Given the description of an element on the screen output the (x, y) to click on. 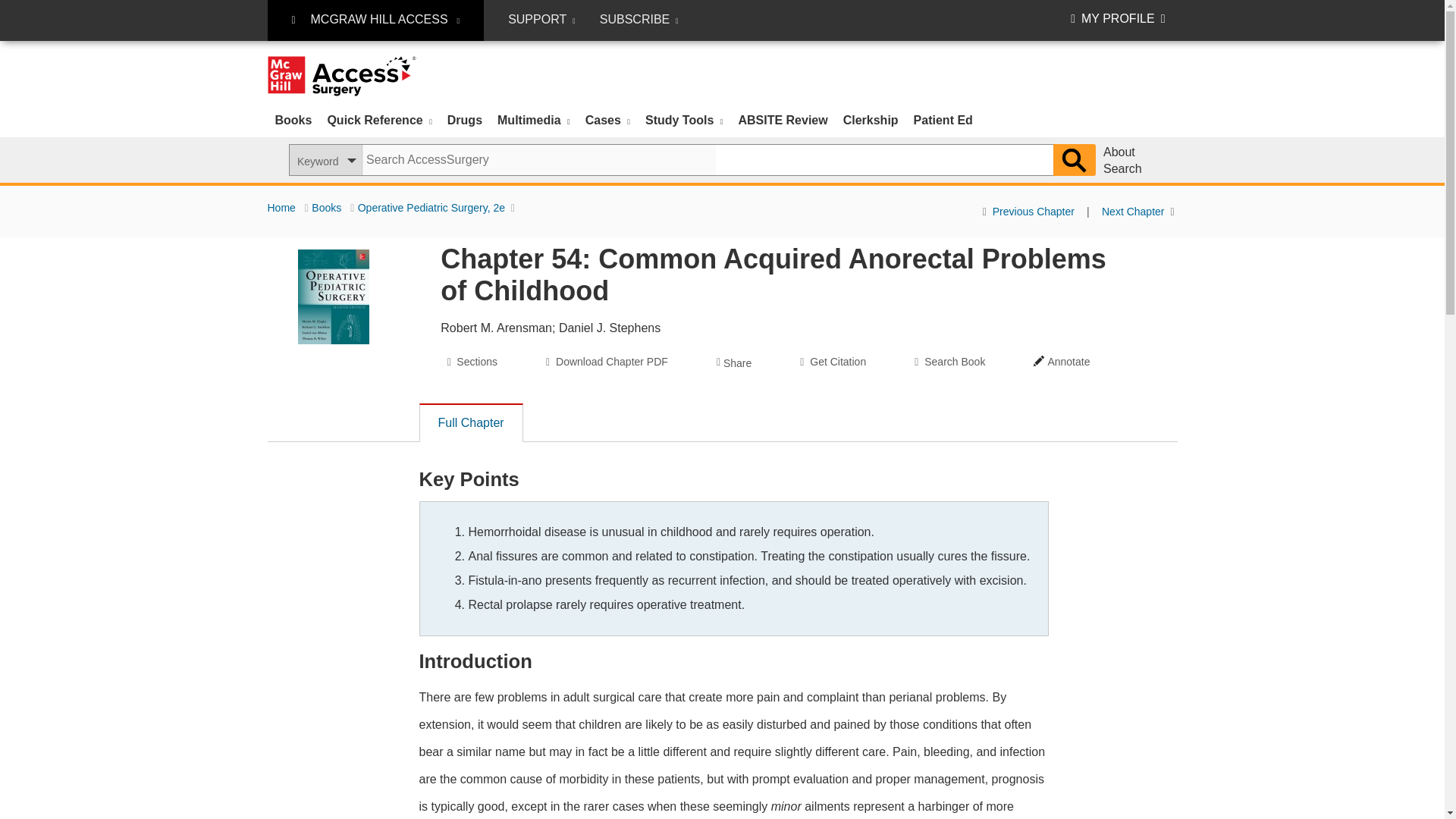
SUBSCRIBE (638, 19)
MY PROFILE (1117, 18)
MCGRAW HILL ACCESS (374, 20)
Search (1074, 160)
Search (1074, 160)
SUPPORT (541, 19)
